Given the description of an element on the screen output the (x, y) to click on. 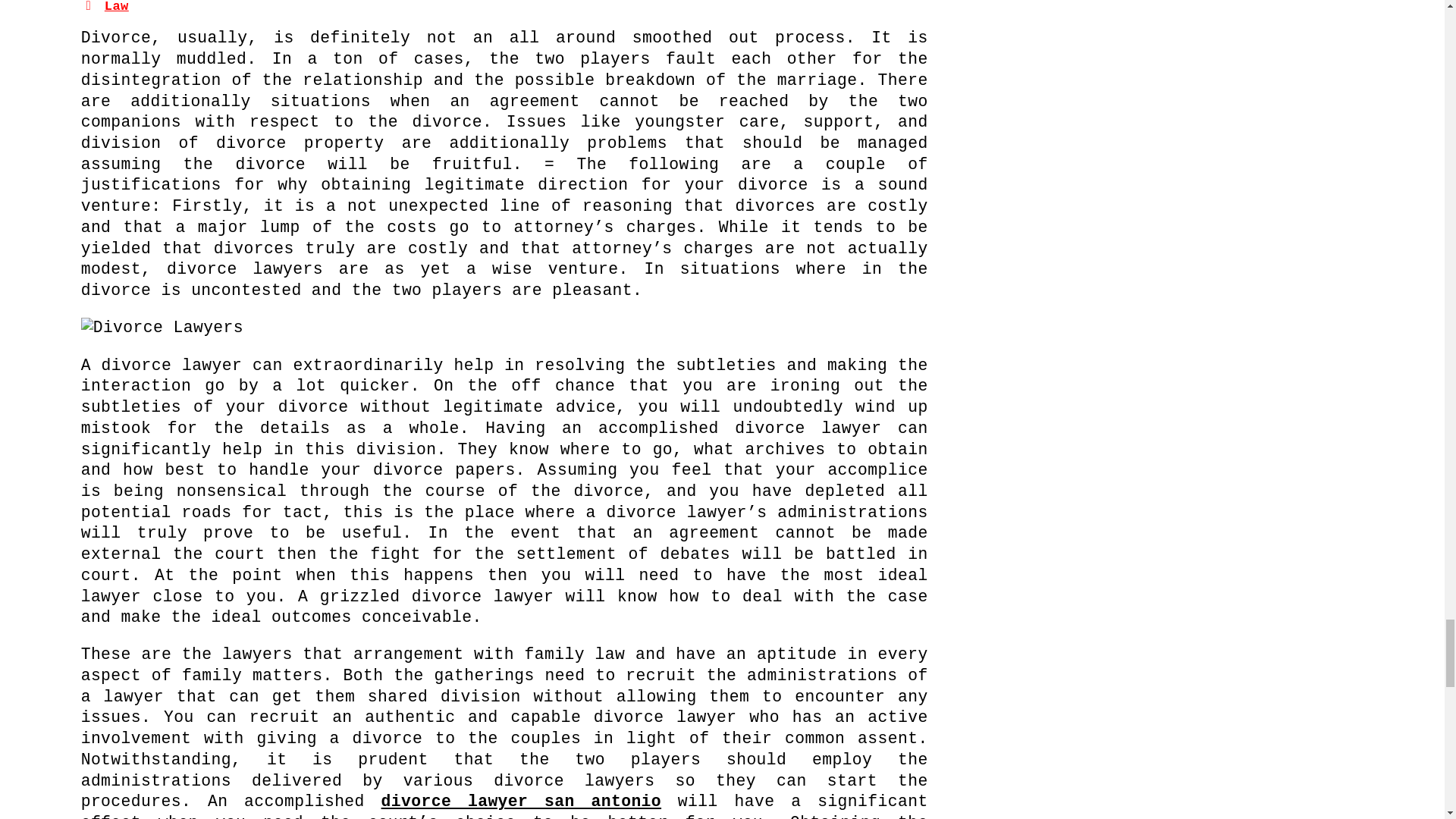
divorce lawyer san antonio (521, 801)
Law (116, 6)
View all in Law (116, 6)
